Given the description of an element on the screen output the (x, y) to click on. 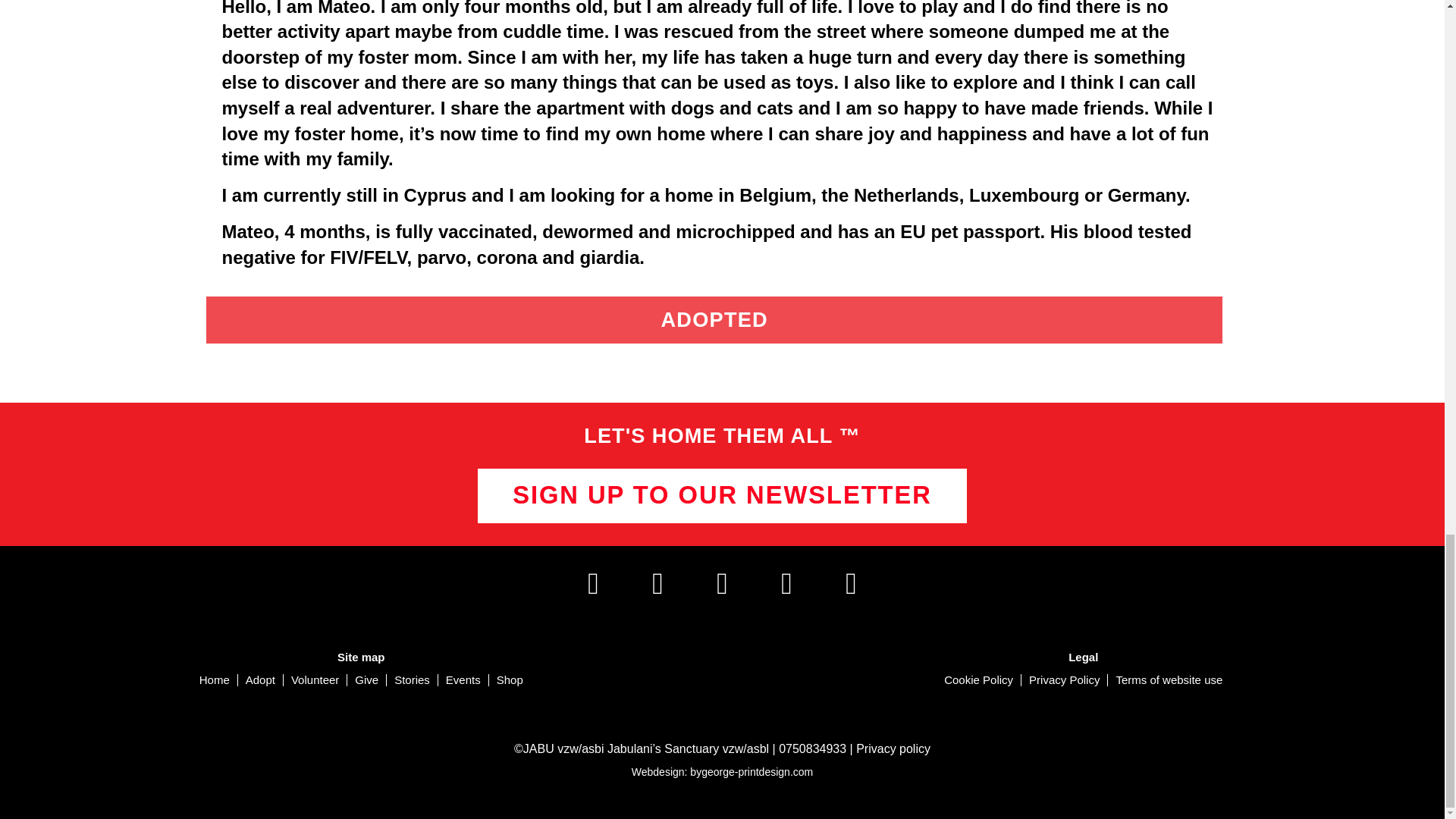
Volunteer (314, 679)
SIGN UP TO OUR NEWSLETTER (721, 495)
Home (214, 679)
Give (366, 679)
Adopt (260, 679)
ADOPT ME (722, 319)
